Given the description of an element on the screen output the (x, y) to click on. 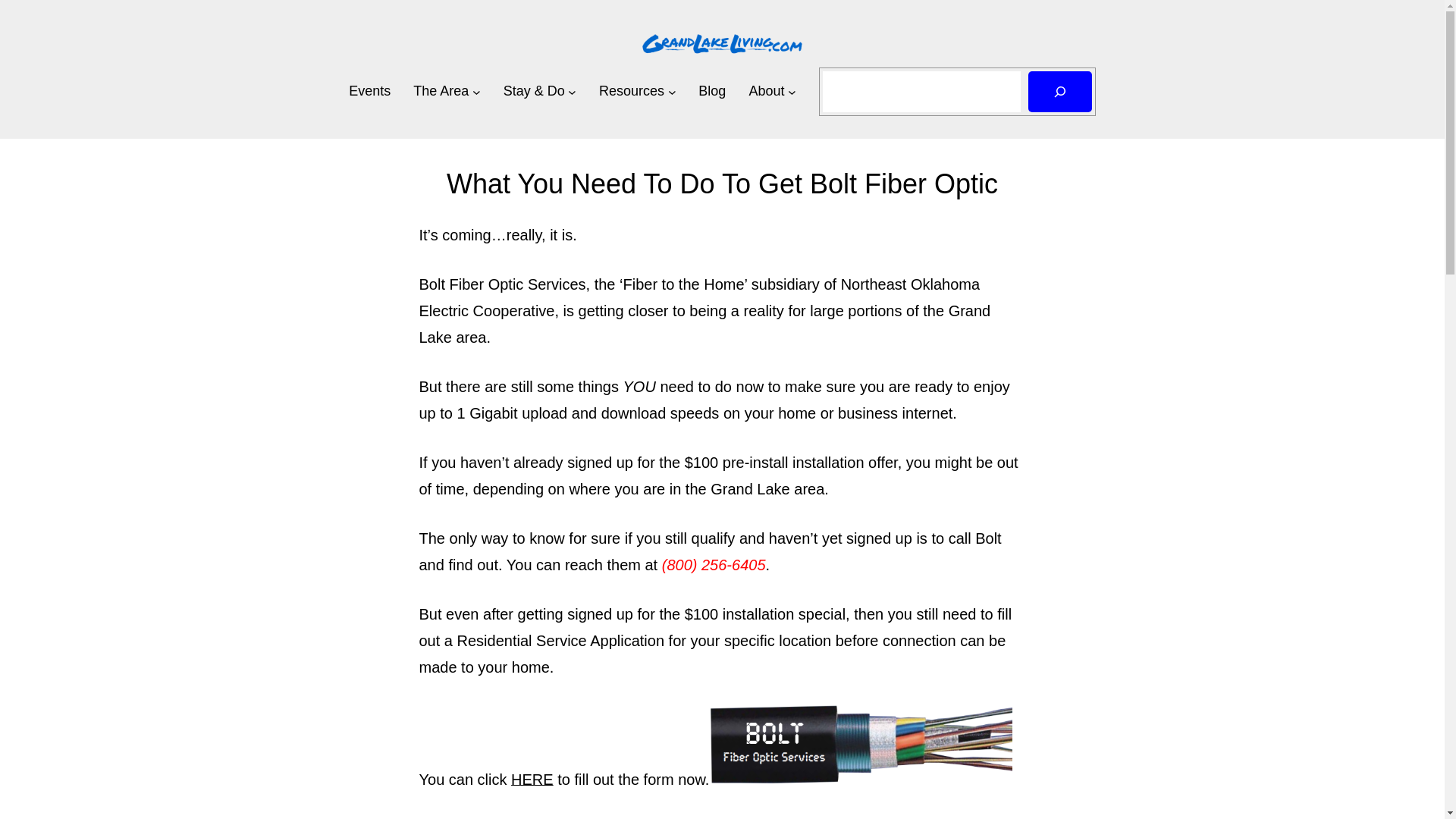
Blog (711, 91)
Latest News at Grand Lake OK (711, 91)
Events coming up at Grand Lake (369, 91)
HERE (532, 778)
Resources (630, 91)
About (766, 91)
Events (369, 91)
The Area (440, 91)
